Given the description of an element on the screen output the (x, y) to click on. 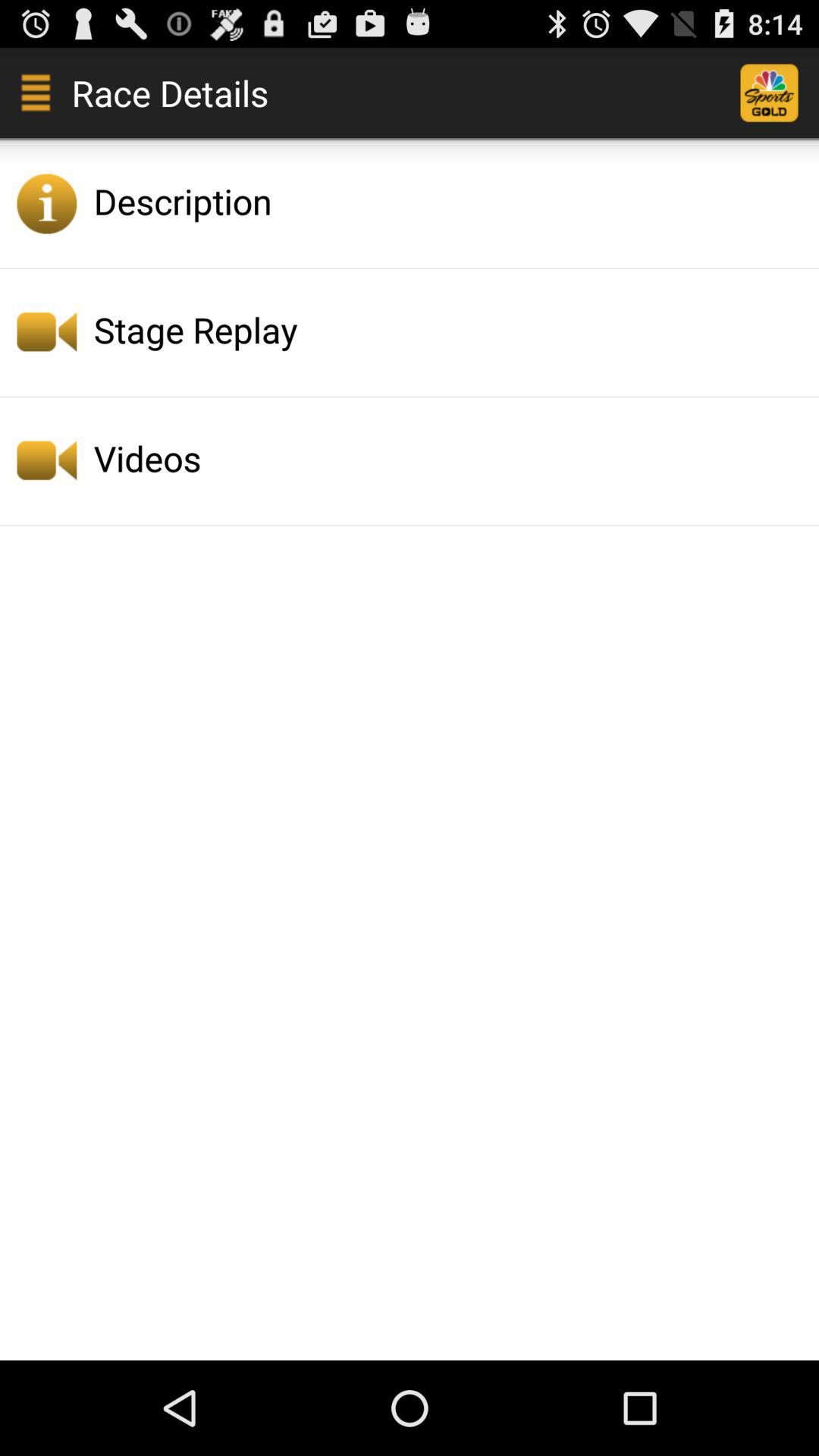
tap description icon (452, 200)
